Given the description of an element on the screen output the (x, y) to click on. 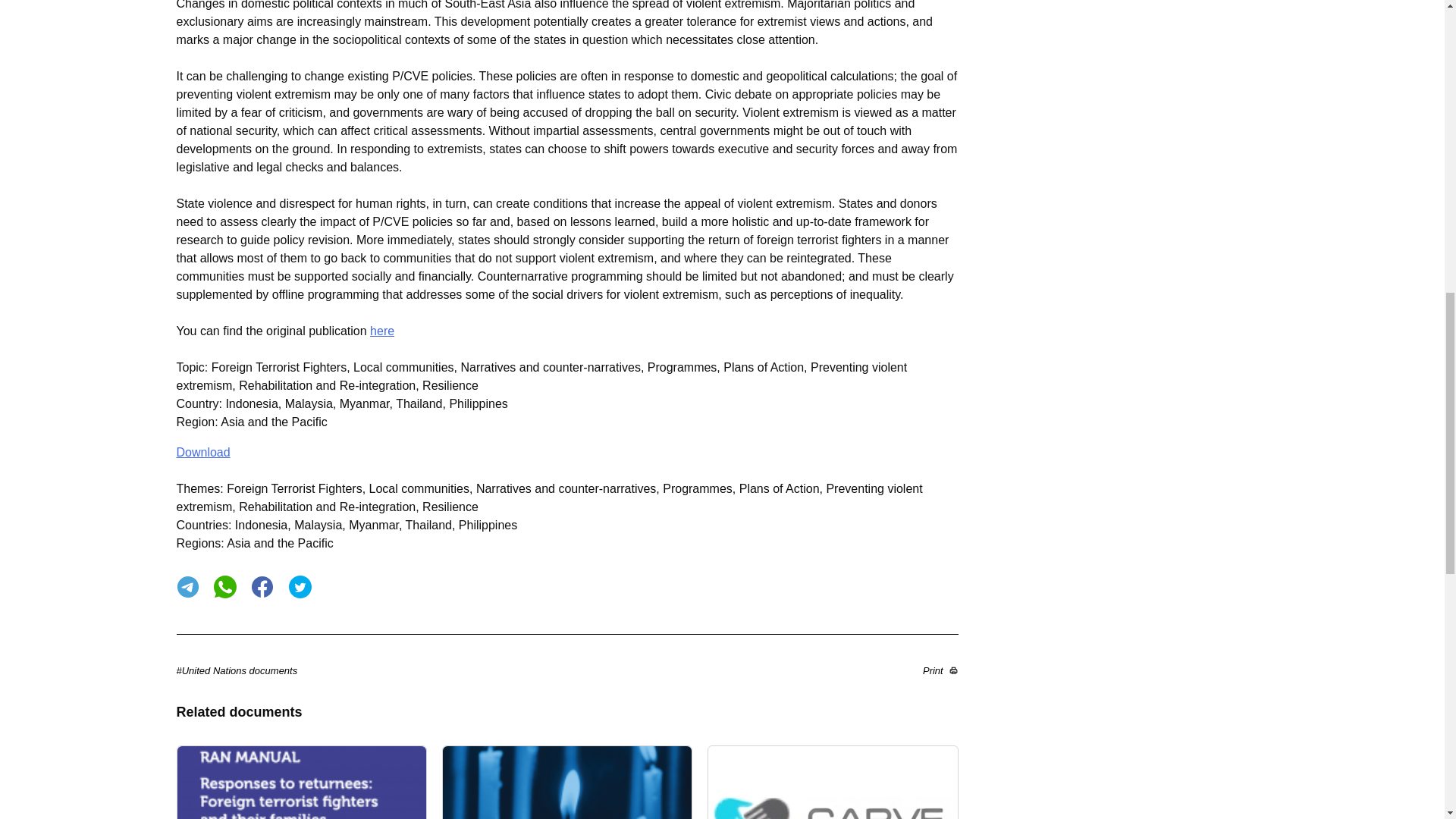
facebook (261, 586)
telegram (187, 586)
